Given the description of an element on the screen output the (x, y) to click on. 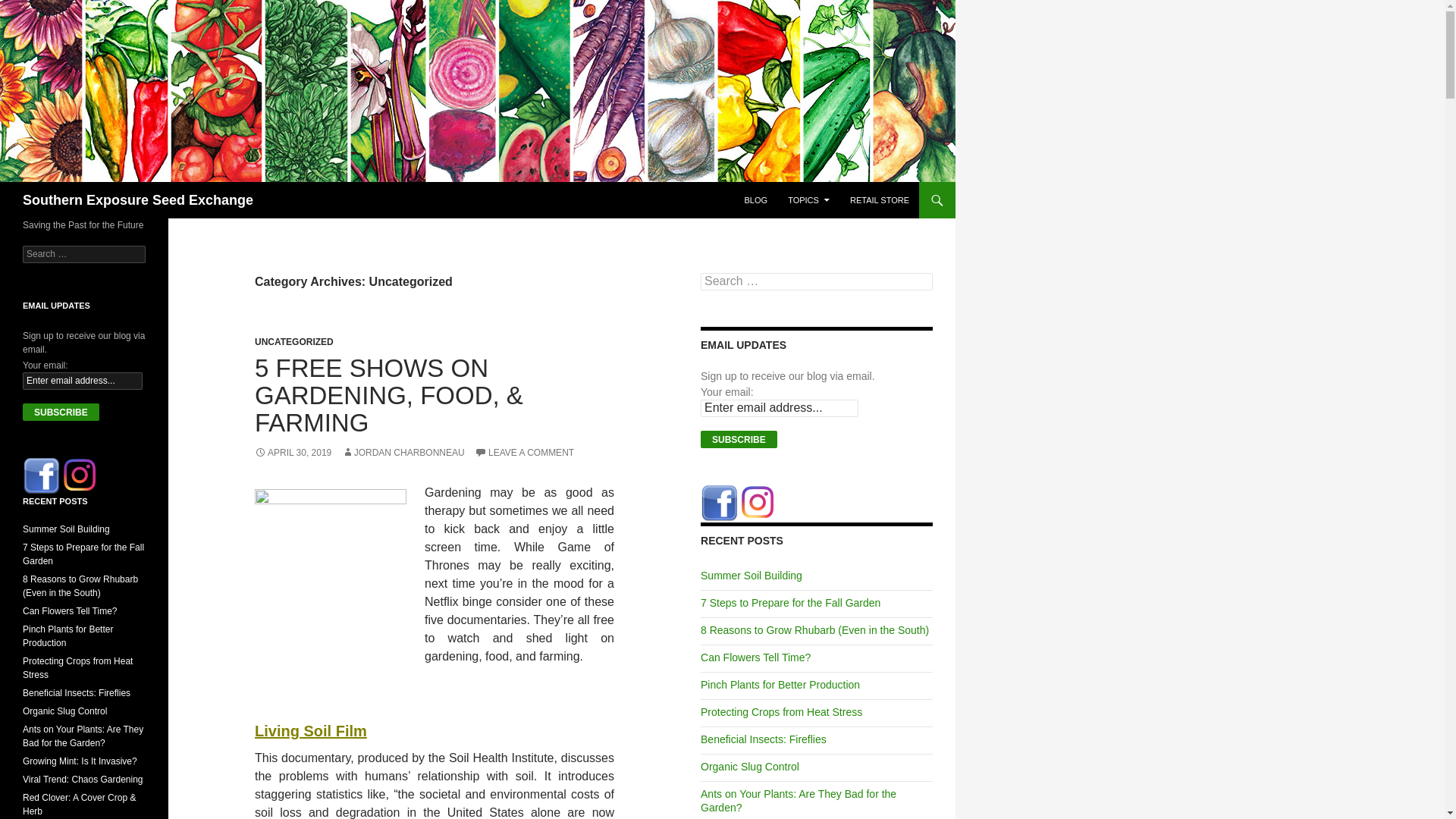
TOPICS (808, 199)
BLOG (755, 199)
RETAIL STORE (879, 199)
JORDAN CHARBONNEAU (403, 452)
UNCATEGORIZED (293, 341)
Subscribe (738, 438)
Enter email address... (82, 380)
Enter email address... (779, 407)
APRIL 30, 2019 (292, 452)
LEAVE A COMMENT (523, 452)
Southern Exposure Seed Exchange (138, 199)
Subscribe (61, 411)
Living Soil Film (310, 730)
